Given the description of an element on the screen output the (x, y) to click on. 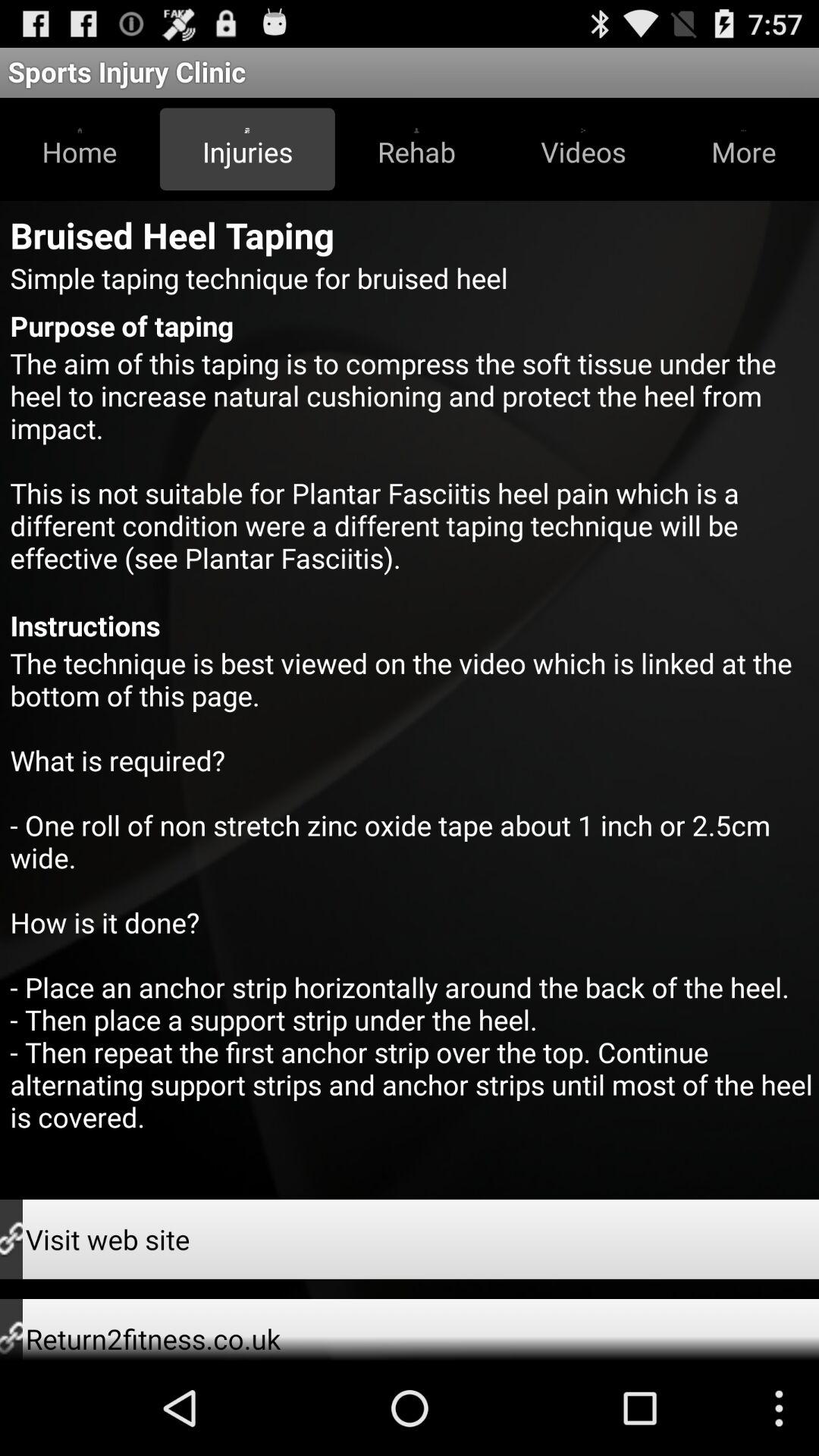
select the icon next to the videos icon (743, 149)
